Given the description of an element on the screen output the (x, y) to click on. 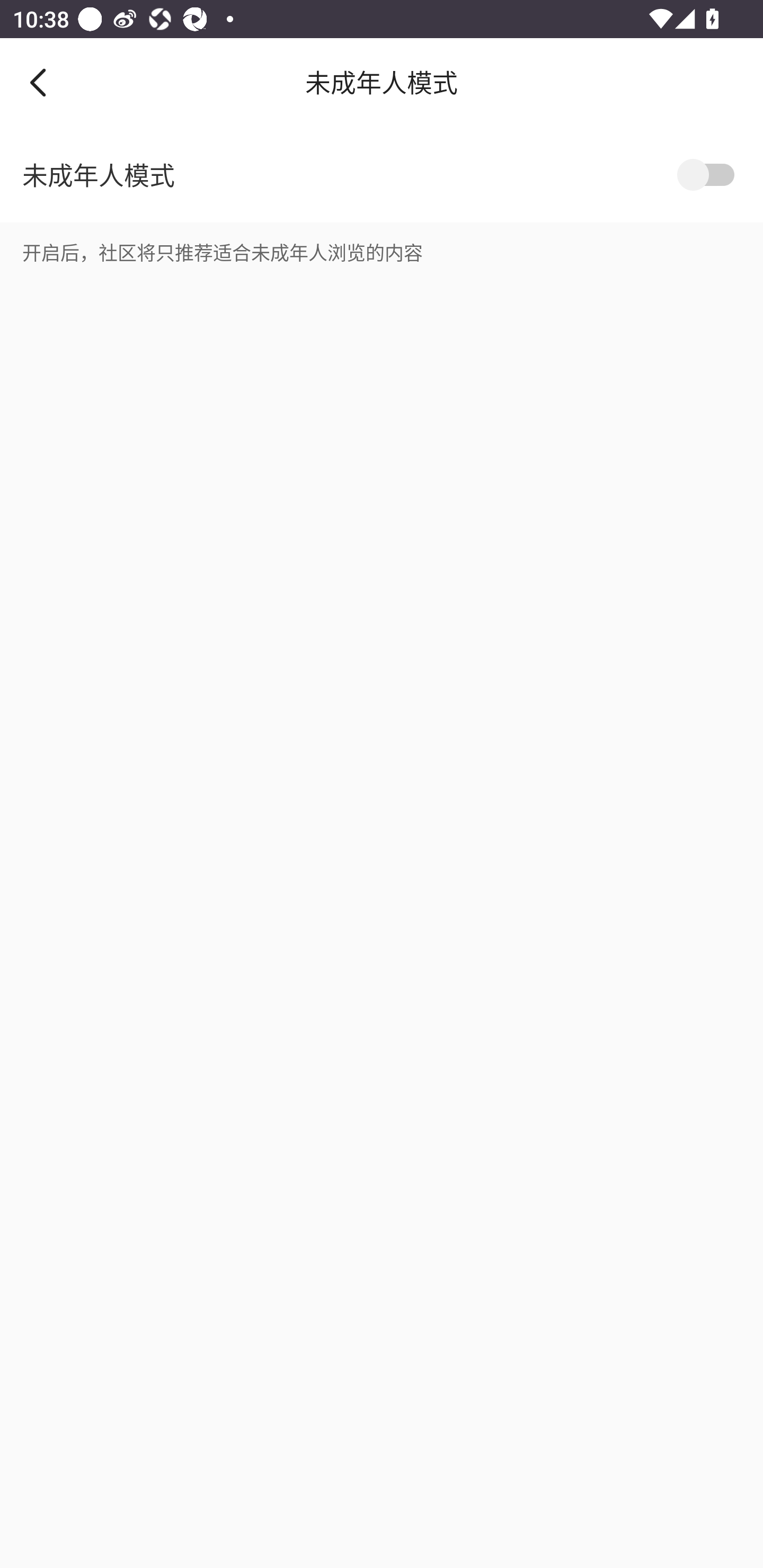
Left Button In Title Bar (50, 82)
OFF (708, 174)
